Given the description of an element on the screen output the (x, y) to click on. 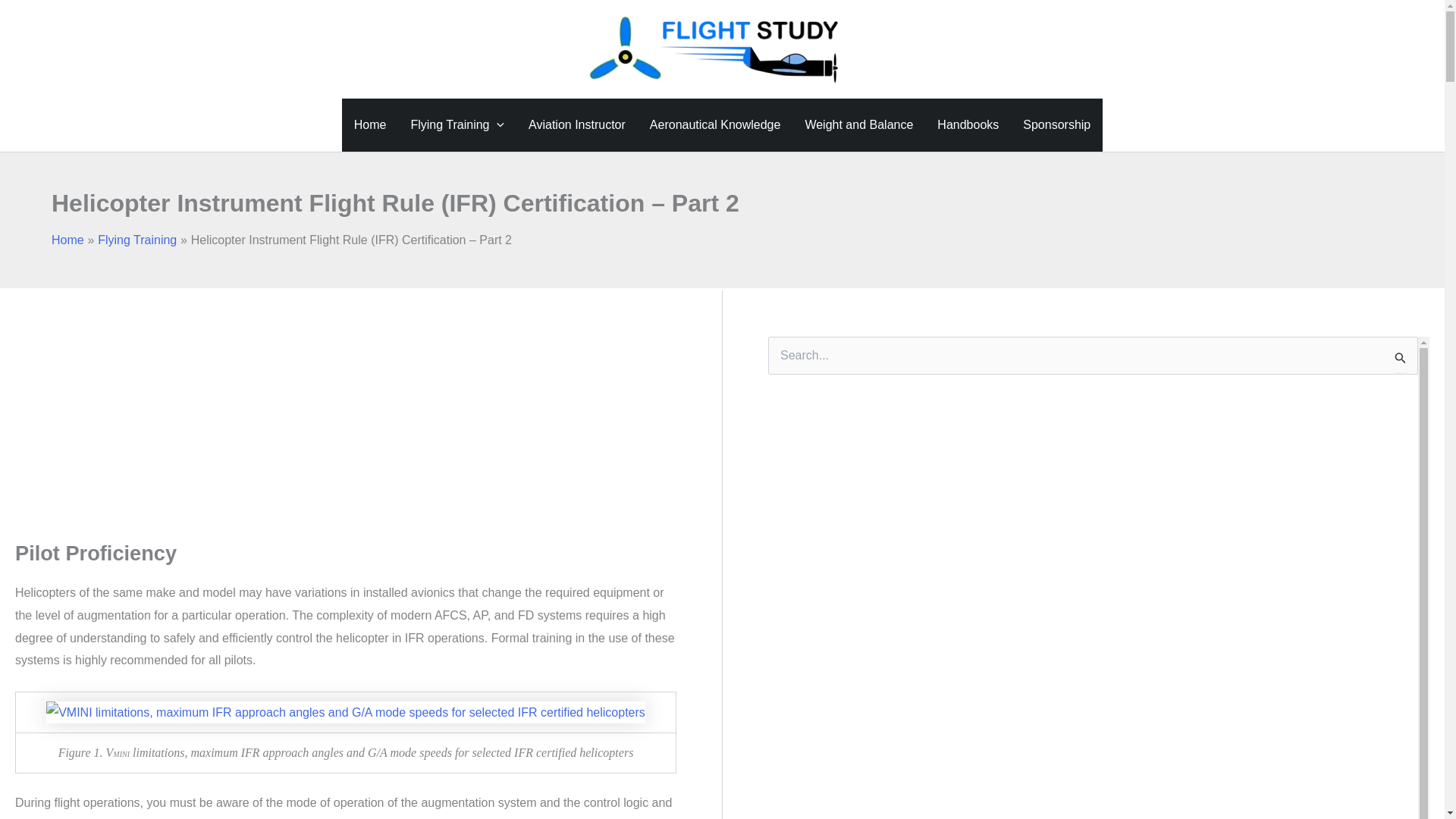
Weight and Balance (858, 124)
Aviation Instructor (576, 124)
Sponsorship (1056, 124)
Home (370, 124)
Handbooks (967, 124)
Aeronautical Knowledge (715, 124)
Home (67, 239)
Flying Training (136, 239)
Flying Training (456, 124)
Advertisement (319, 402)
